Given the description of an element on the screen output the (x, y) to click on. 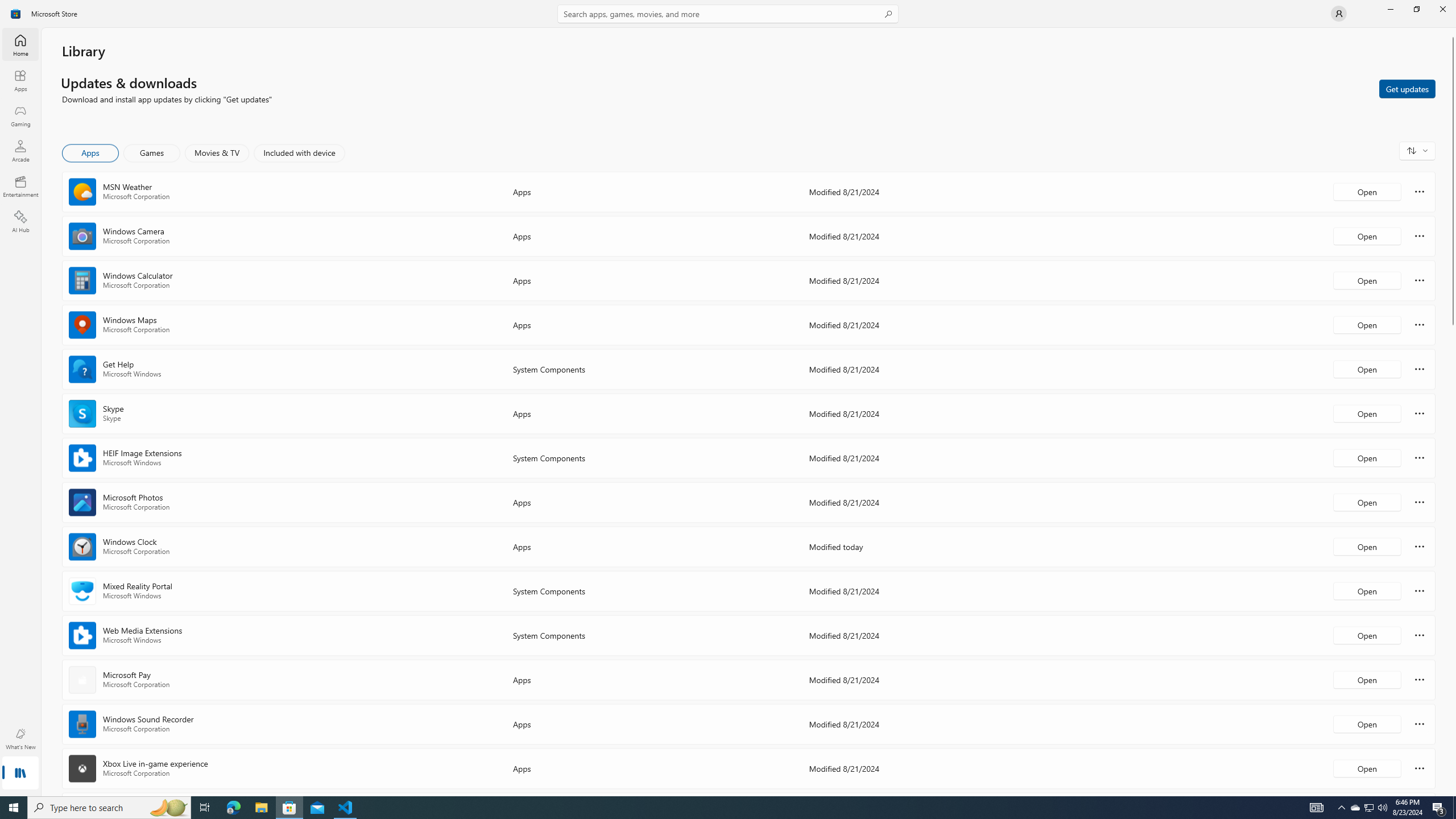
More options (1419, 768)
Vertical Large Increase (1452, 557)
Open (1366, 768)
Games (151, 153)
